Given the description of an element on the screen output the (x, y) to click on. 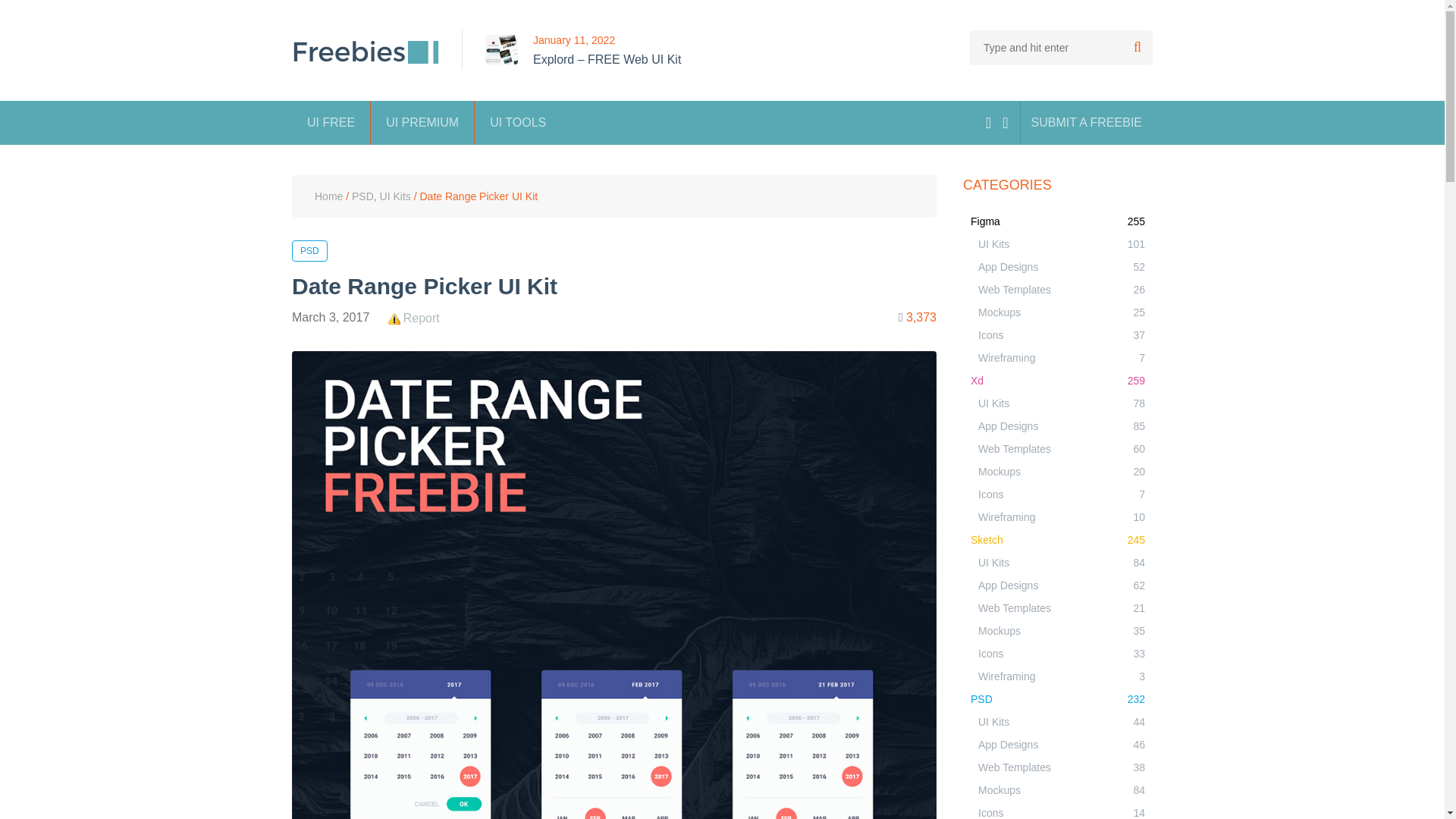
SUBMIT A FREEBIE (1086, 122)
FreebiesUI (365, 52)
Home (328, 196)
UI FREE (330, 122)
PSD (309, 250)
UI PREMIUM (422, 122)
UI TOOLS (517, 122)
